Given the description of an element on the screen output the (x, y) to click on. 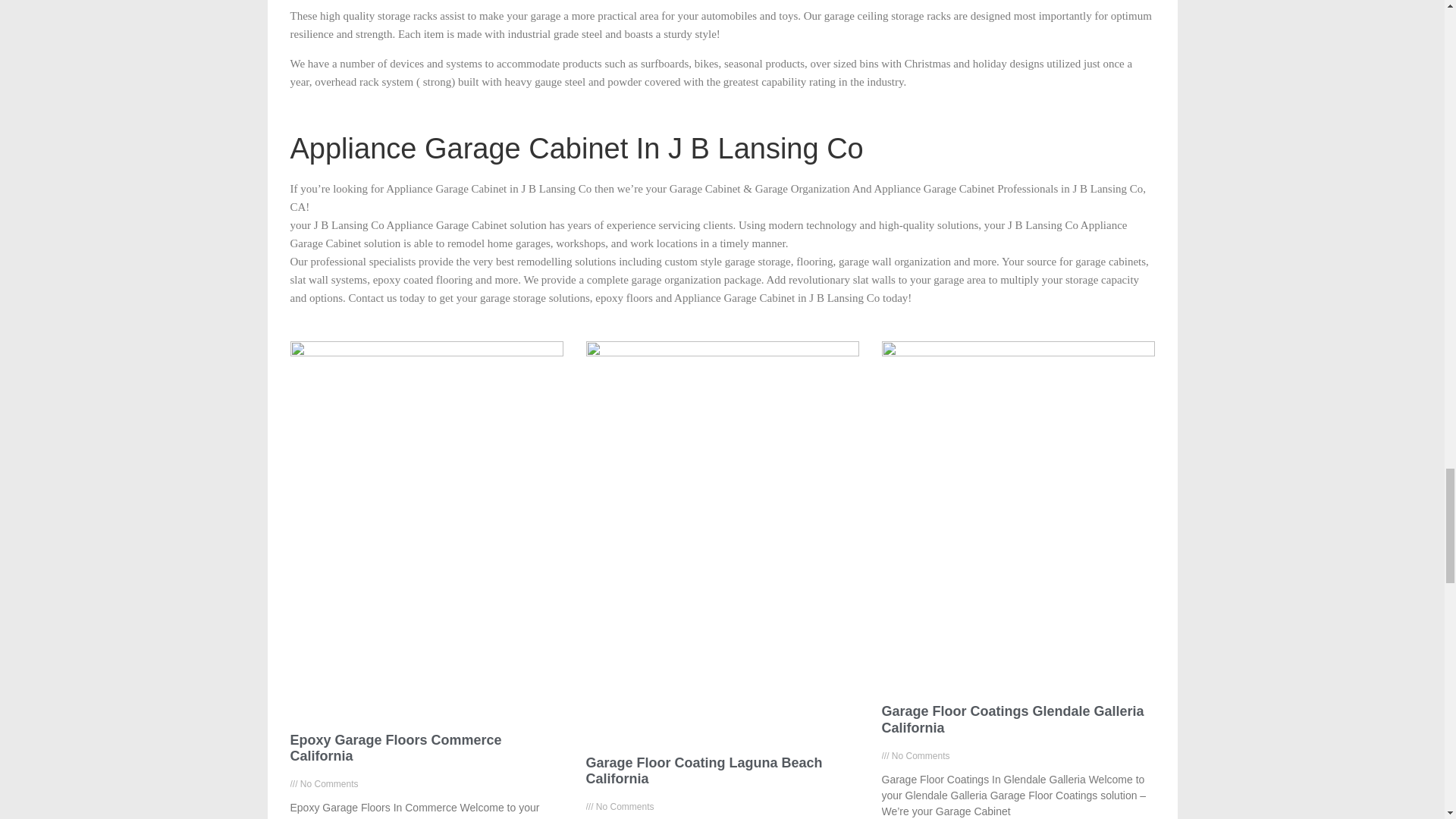
Garage Floor Coatings Glendale Galleria California (1011, 719)
Garage Floor Coating Laguna Beach California (703, 771)
Epoxy Garage Floors Commerce California (394, 748)
